Given the description of an element on the screen output the (x, y) to click on. 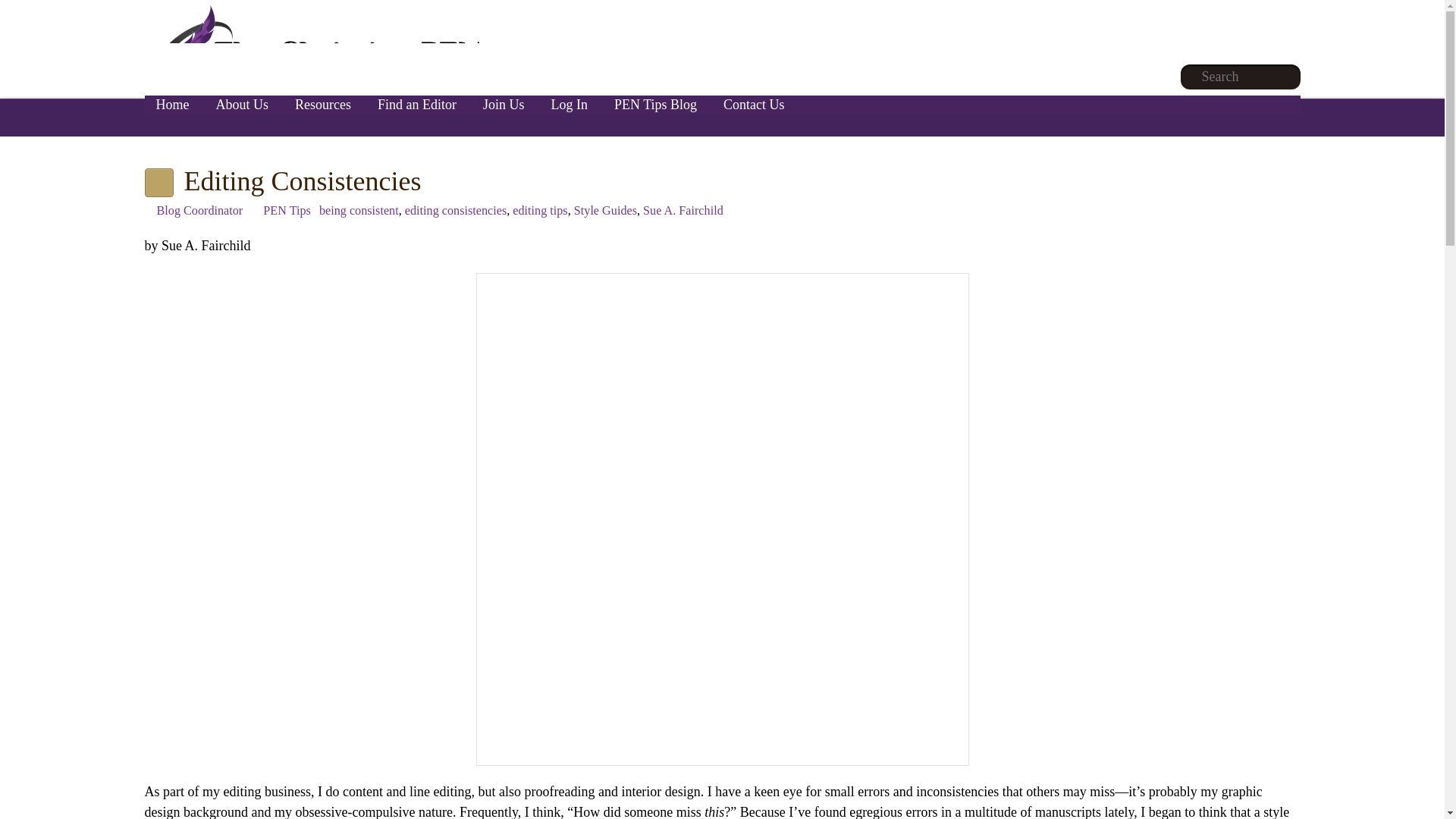
Join Us (503, 104)
Editing Consistencies (301, 181)
Style Guides (605, 210)
Home (172, 104)
being consistent (358, 210)
editing tips (539, 210)
editing consistencies (455, 210)
About Us (243, 104)
Editing Consistencies (301, 181)
PEN Tips (287, 210)
